Given the description of an element on the screen output the (x, y) to click on. 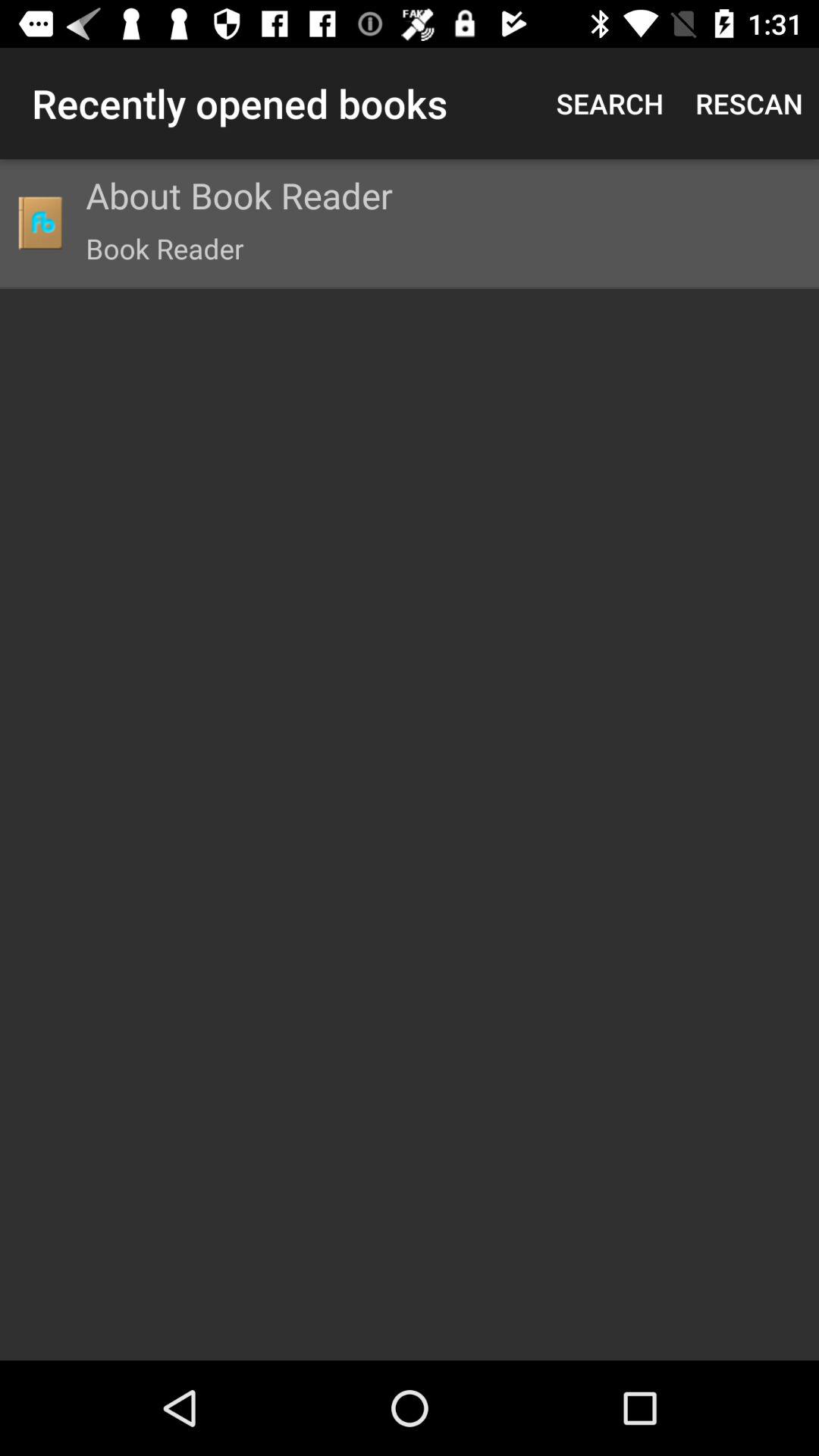
click the item next to search item (749, 103)
